Given the description of an element on the screen output the (x, y) to click on. 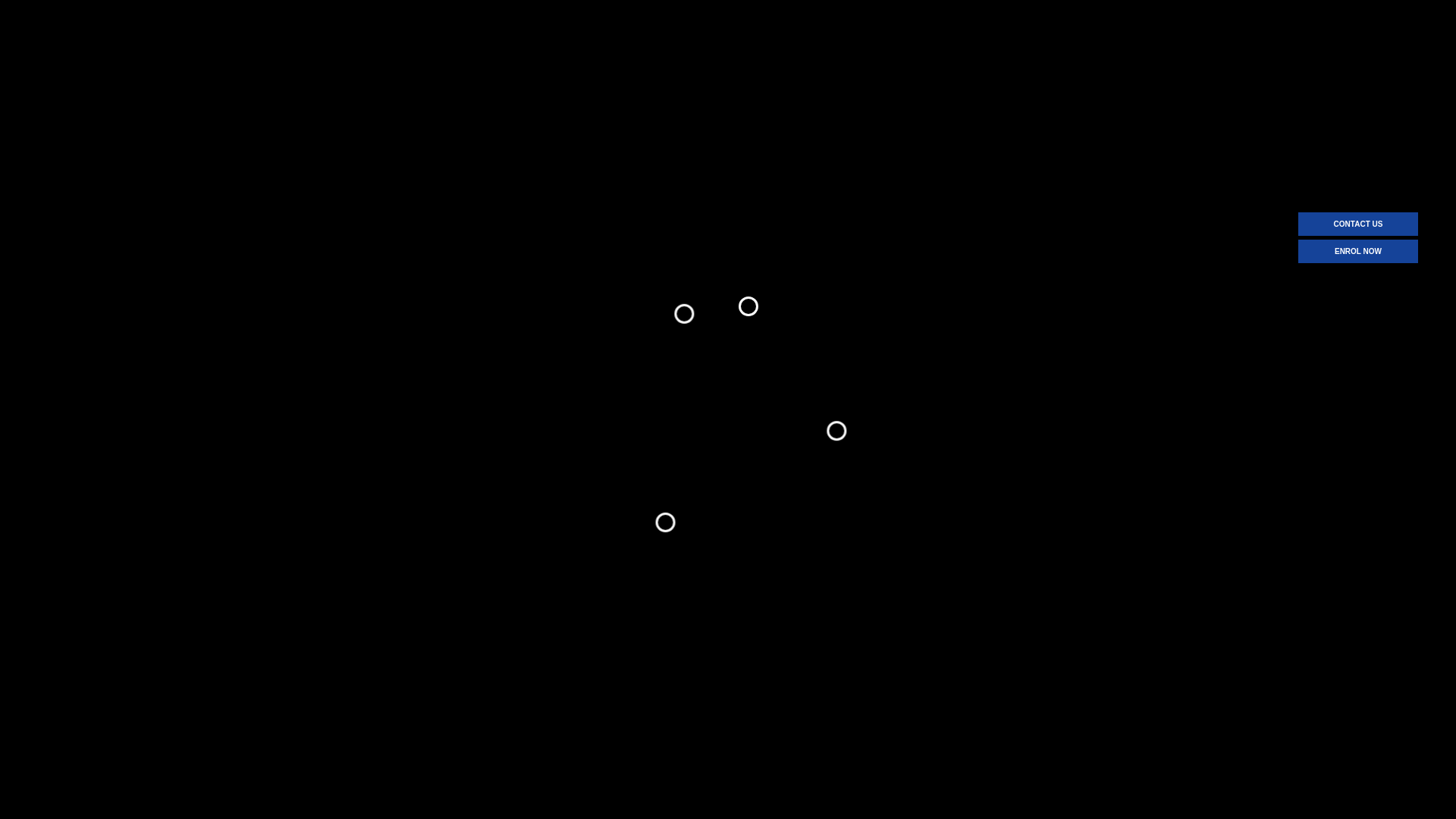
CONTACT US Element type: text (1358, 223)
ENROL NOW Element type: text (1358, 251)
